Given the description of an element on the screen output the (x, y) to click on. 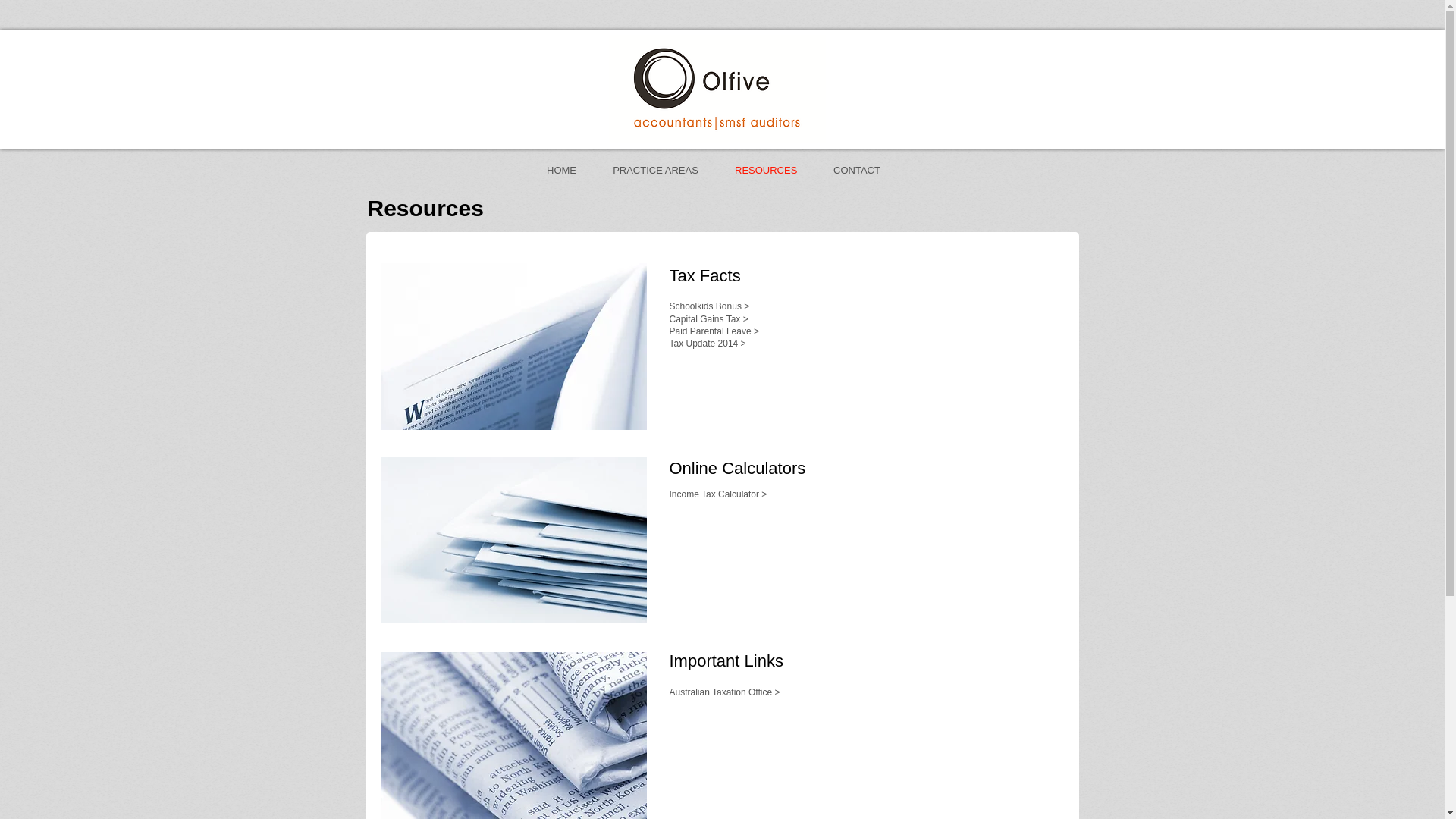
Income Tax Calculator > Element type: text (717, 494)
RESOURCES Element type: text (765, 170)
Schoolkids Bonus > Element type: text (708, 306)
CONTACT Element type: text (856, 170)
paper stack Element type: hover (513, 539)
Australian Taxation Office > Element type: text (723, 692)
HOME Element type: text (561, 170)
Capital Gains Tax > Element type: text (707, 318)
PRACTICE AREAS Element type: text (655, 170)
Paid Parental Leave > Element type: text (713, 331)
